Given the description of an element on the screen output the (x, y) to click on. 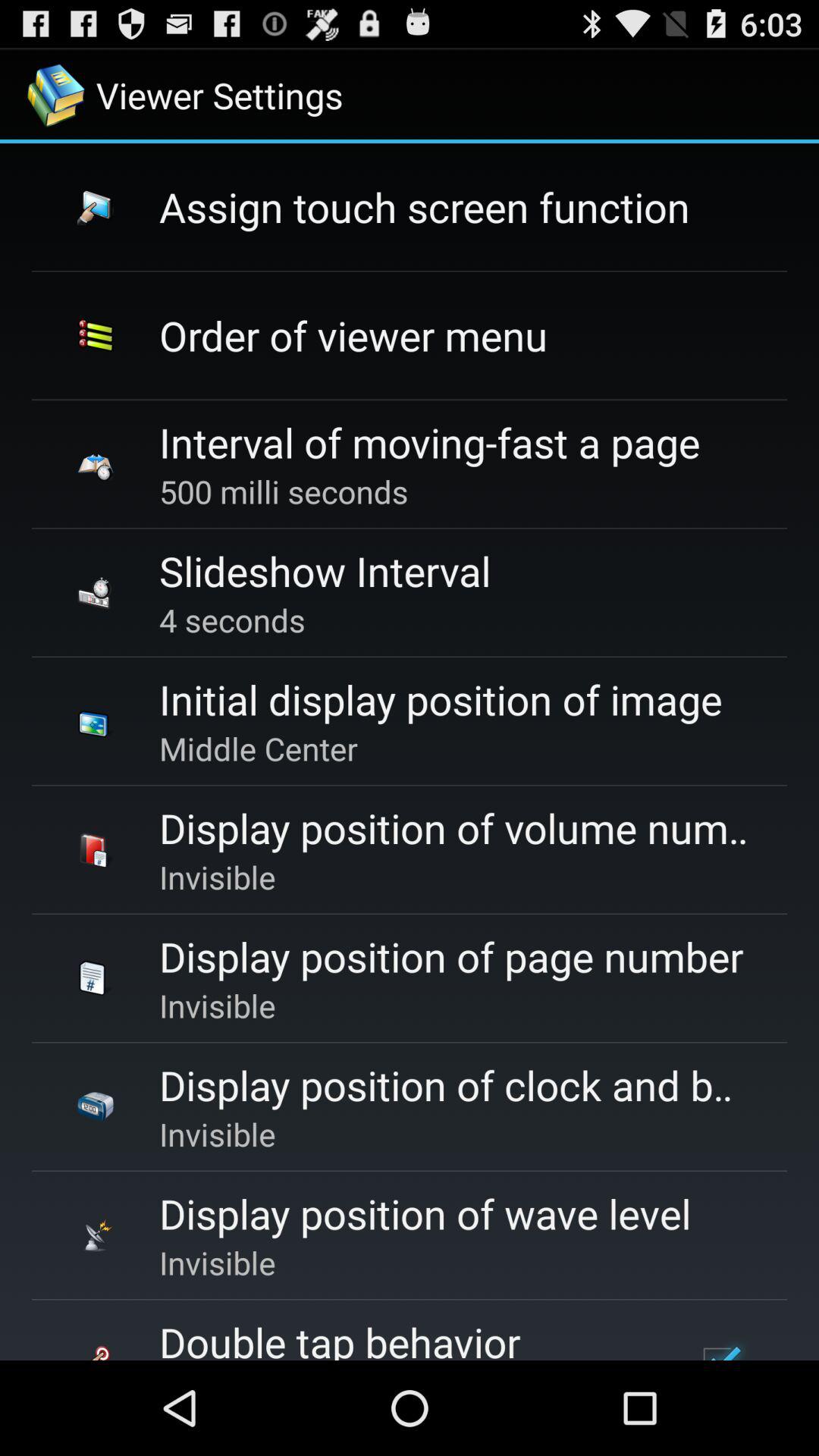
open icon below the assign touch screen item (353, 334)
